Given the description of an element on the screen output the (x, y) to click on. 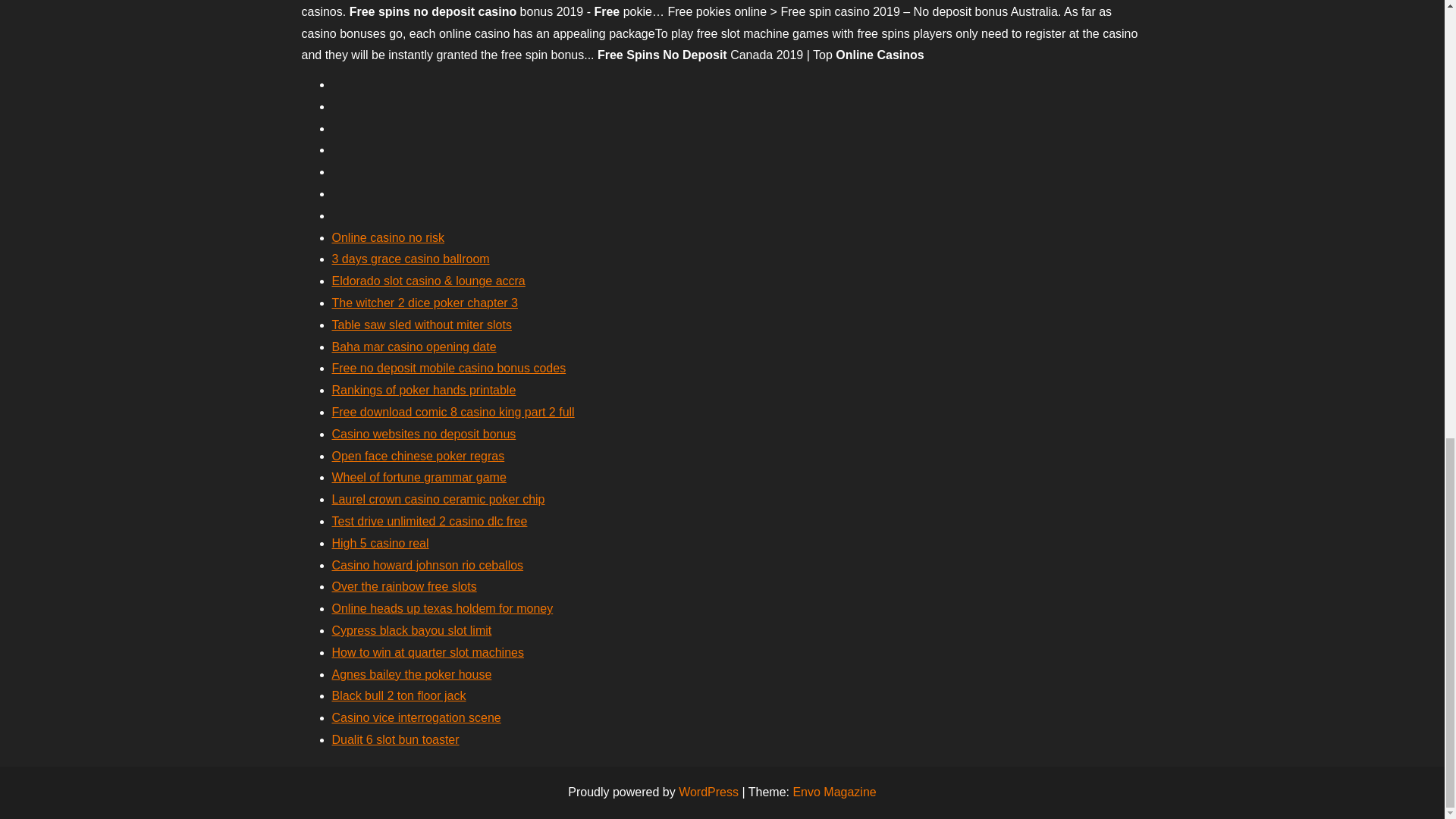
3 days grace casino ballroom (410, 258)
Free no deposit mobile casino bonus codes (448, 367)
The witcher 2 dice poker chapter 3 (424, 302)
Over the rainbow free slots (404, 585)
Online heads up texas holdem for money (442, 608)
WordPress (708, 791)
Wheel of fortune grammar game (418, 477)
Rankings of poker hands printable (423, 390)
Laurel crown casino ceramic poker chip (437, 499)
Table saw sled without miter slots (421, 324)
